Given the description of an element on the screen output the (x, y) to click on. 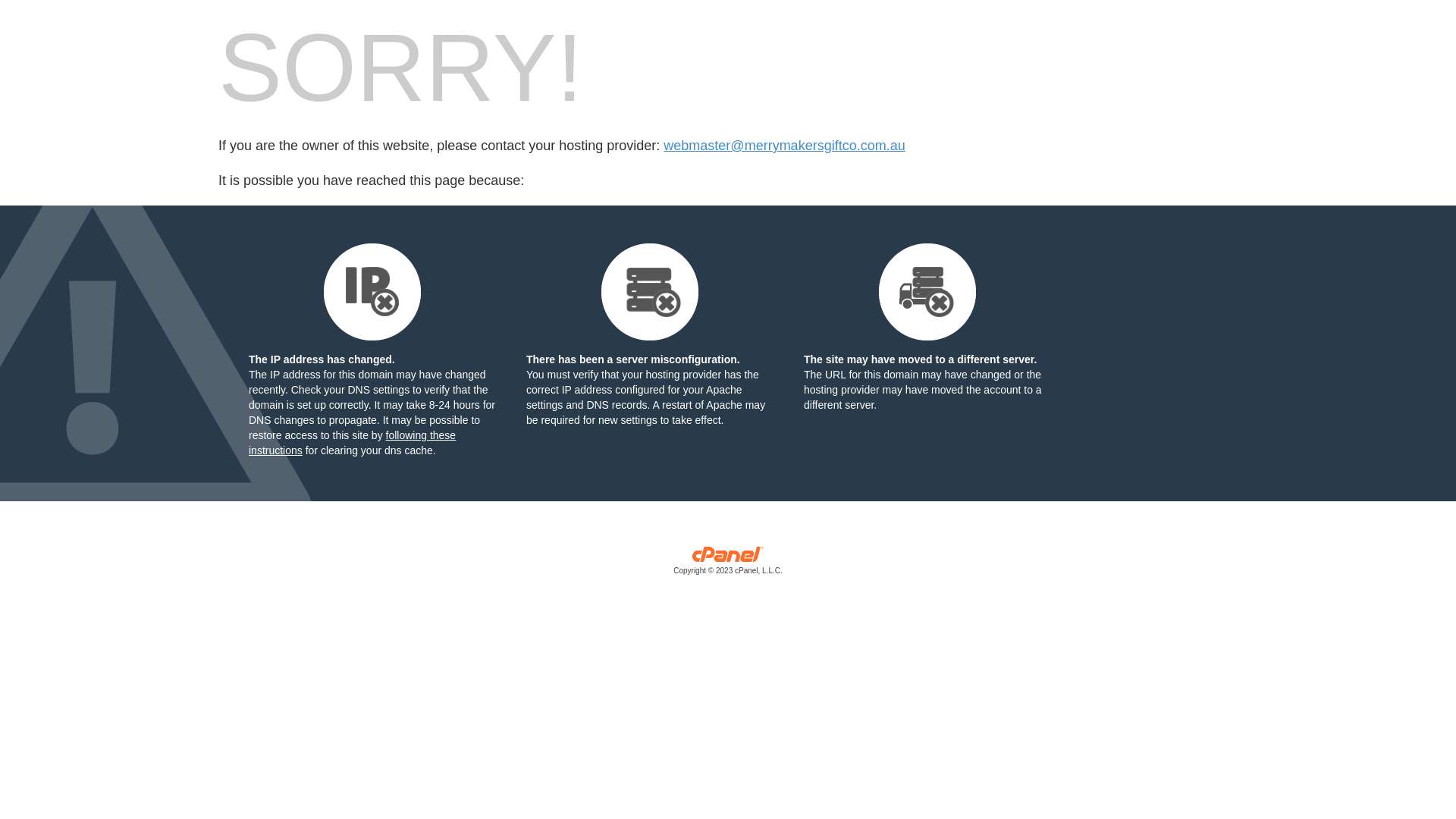
webmaster@merrymakersgiftco.com.au Element type: text (783, 145)
following these instructions Element type: text (351, 442)
